Given the description of an element on the screen output the (x, y) to click on. 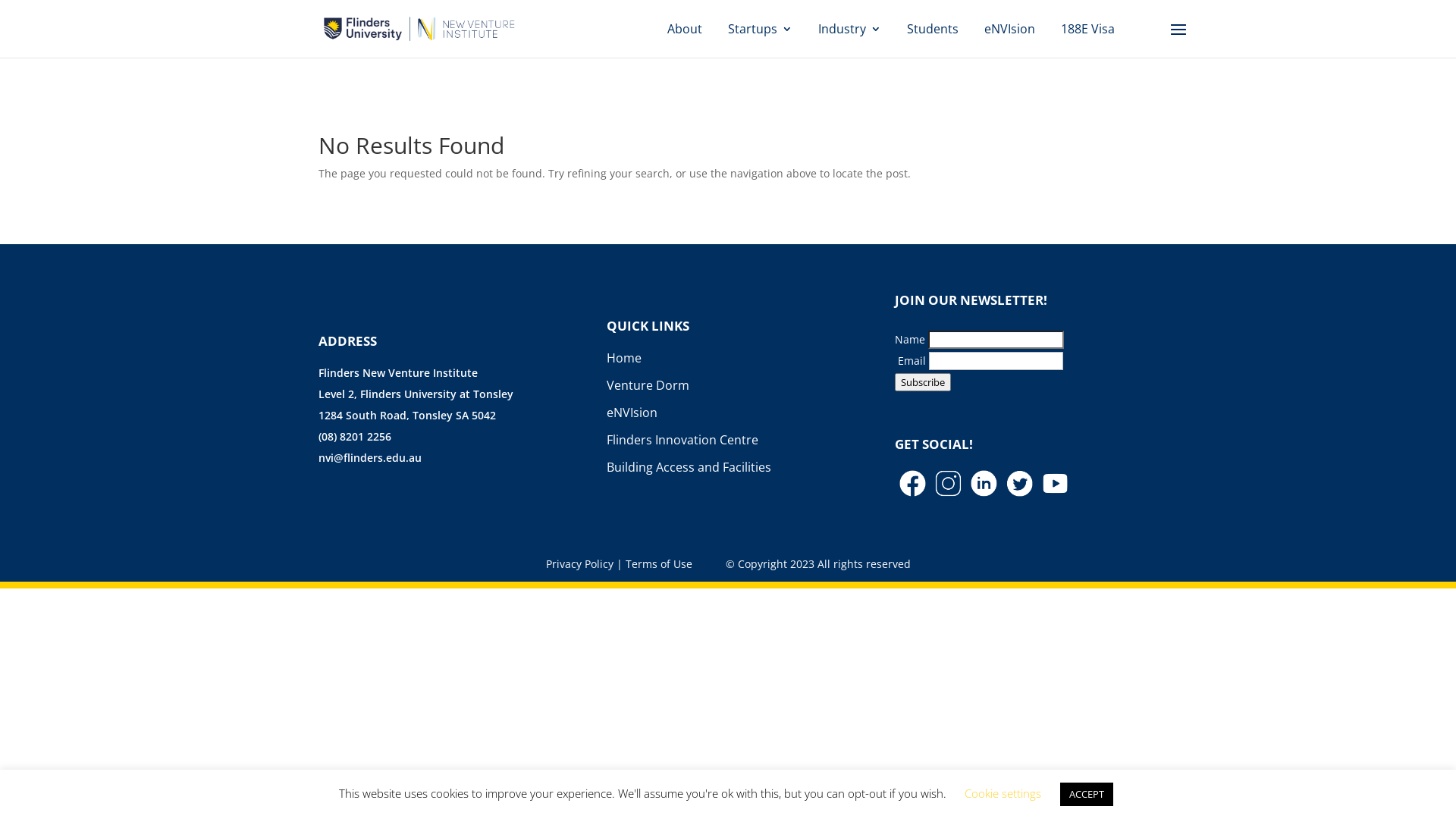
Twitter Element type: hover (1019, 483)
Building Access and Facilities Element type: text (688, 466)
About Element type: text (684, 28)
Subscribe Element type: text (922, 382)
Facebook Element type: hover (912, 483)
LinkedIn Element type: hover (983, 483)
Startups Element type: text (760, 28)
Privacy Policy Element type: text (579, 563)
Venture Dorm Element type: text (647, 384)
You Tube Element type: hover (1054, 483)
Industry Element type: text (849, 28)
Flinders Innovation Centre Element type: text (682, 439)
188E Visa Element type: text (1087, 28)
Instagram Element type: hover (948, 483)
eNVIsion Element type: text (1009, 28)
eNVIsion Element type: text (631, 412)
ACCEPT Element type: text (1086, 794)
Home Element type: text (623, 357)
Terms of Use Element type: text (657, 563)
Students Element type: text (932, 28)
Cookie settings Element type: text (1002, 792)
